Given the description of an element on the screen output the (x, y) to click on. 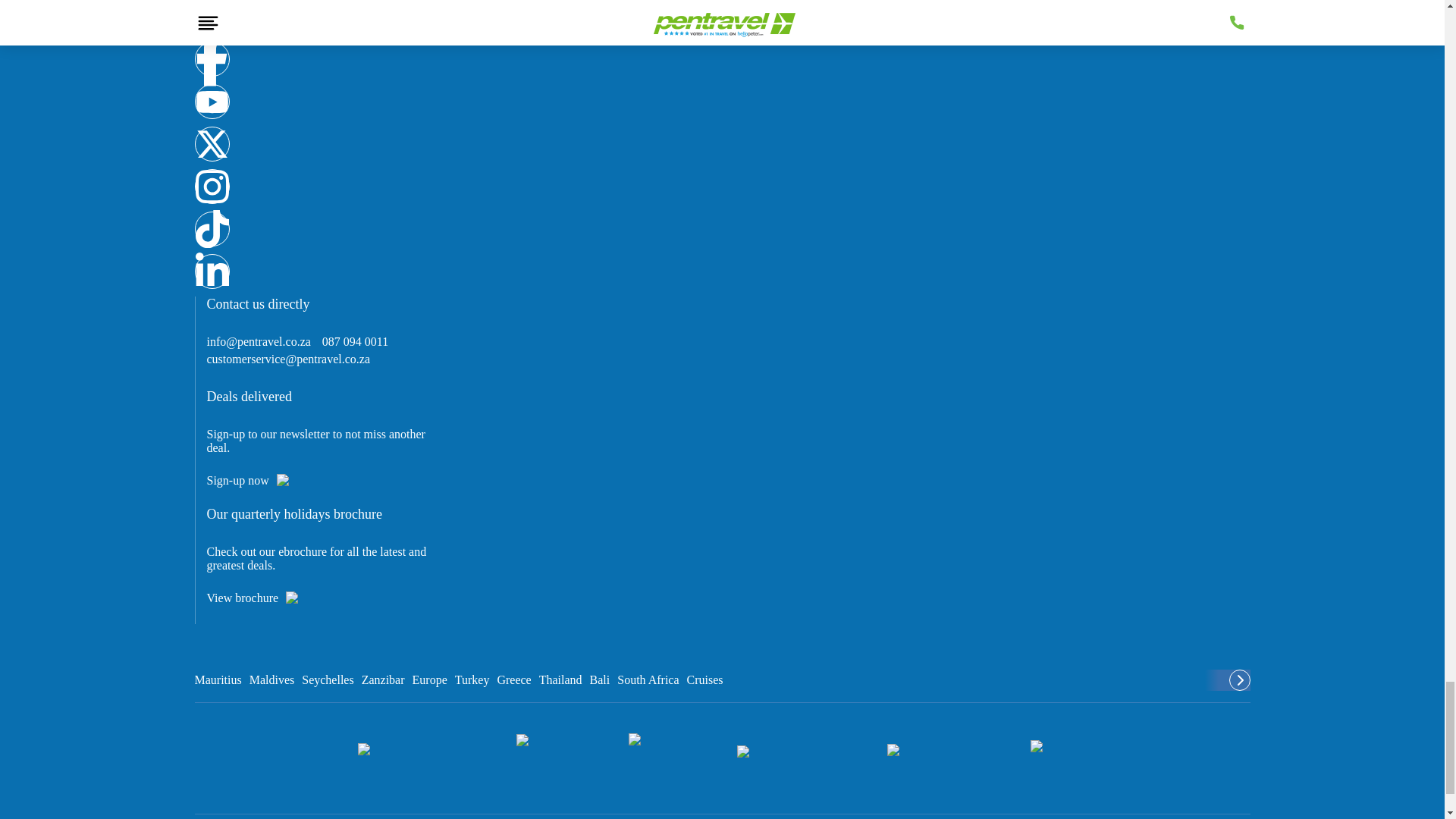
087 094 0011 (354, 341)
